Given the description of an element on the screen output the (x, y) to click on. 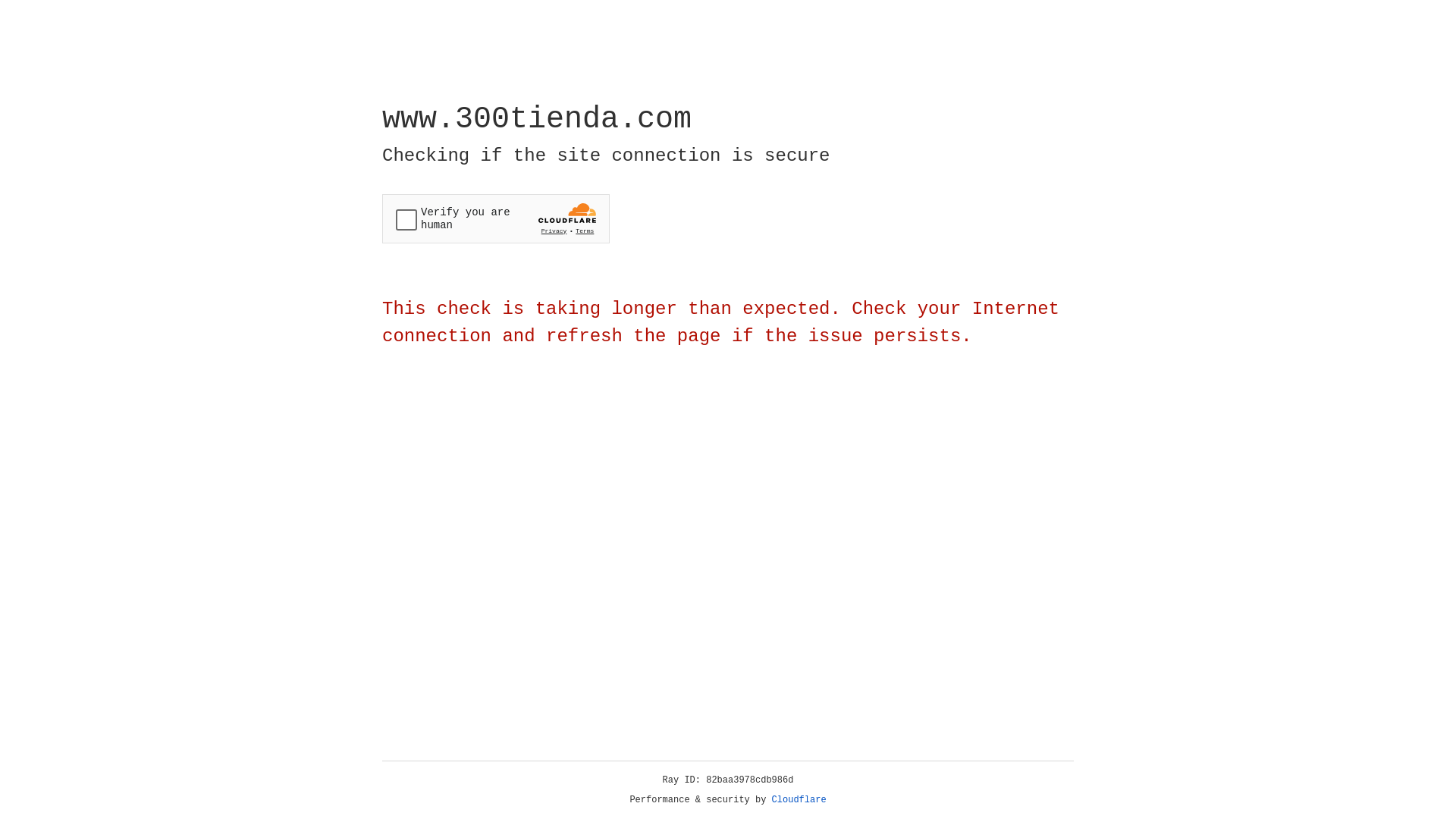
Widget containing a Cloudflare security challenge Element type: hover (495, 218)
Cloudflare Element type: text (798, 799)
